Given the description of an element on the screen output the (x, y) to click on. 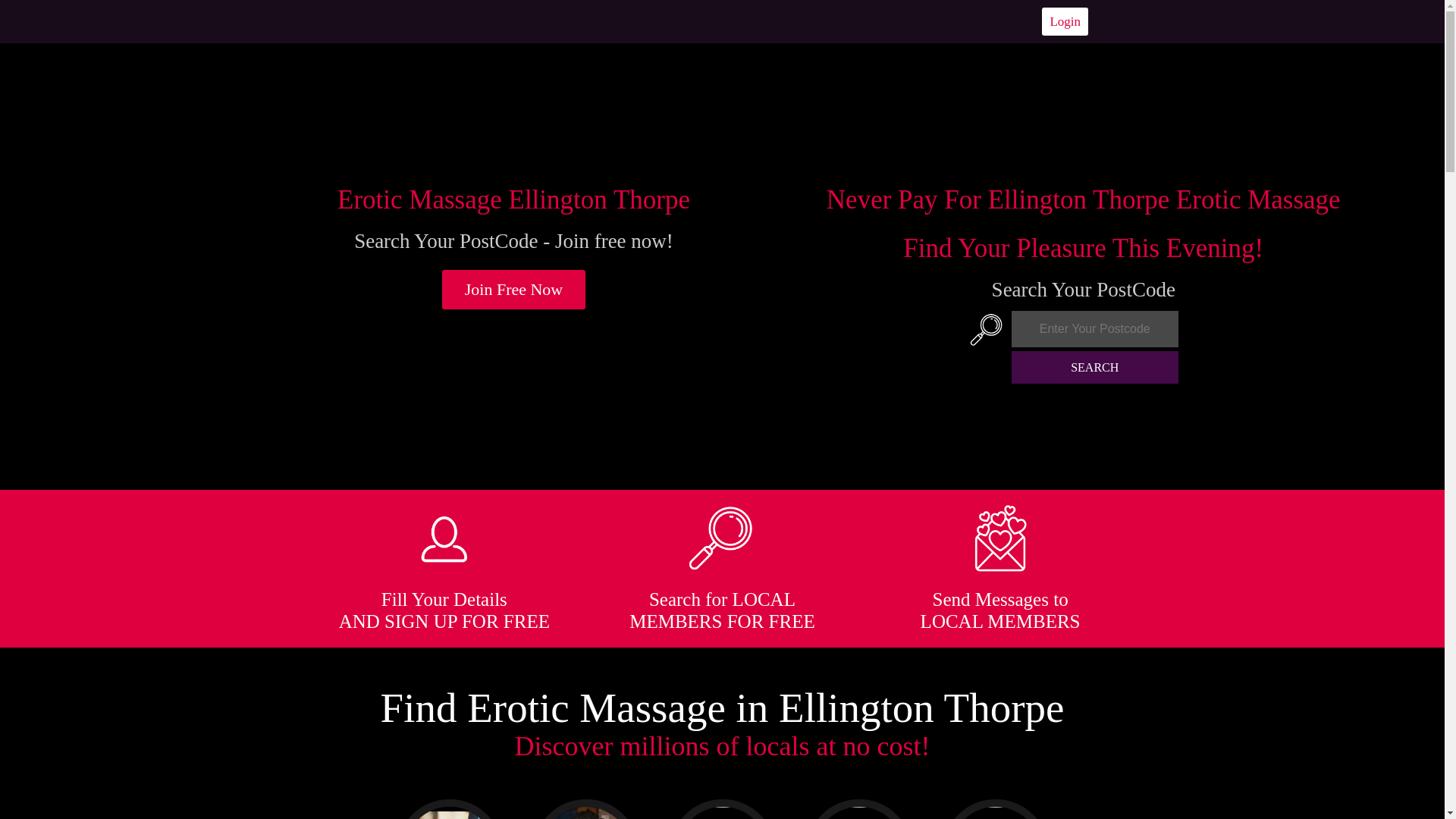
Join (514, 289)
SEARCH (1094, 367)
Join Free Now (514, 289)
Login (1064, 21)
Login (1064, 21)
